Given the description of an element on the screen output the (x, y) to click on. 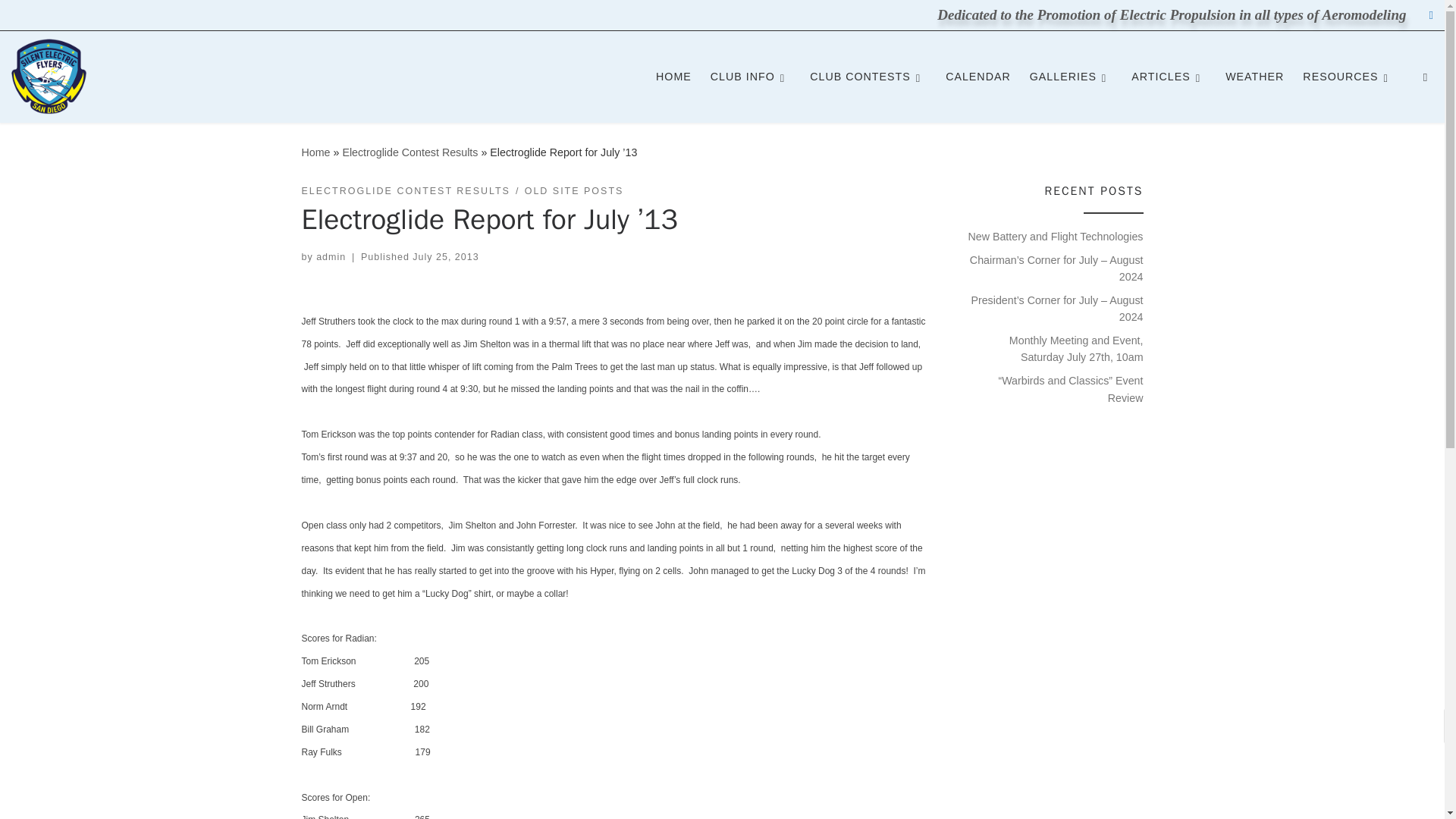
3:46 am (445, 256)
SEFSD (315, 152)
CLUB INFO (751, 76)
HOME (672, 76)
Skip to content (60, 20)
View all posts in Old Site Posts (574, 191)
View all posts by admin (330, 256)
Electroglide Contest Results (409, 152)
View all posts in Electroglide Contest Results (406, 191)
CLUB CONTESTS (868, 76)
